Given the description of an element on the screen output the (x, y) to click on. 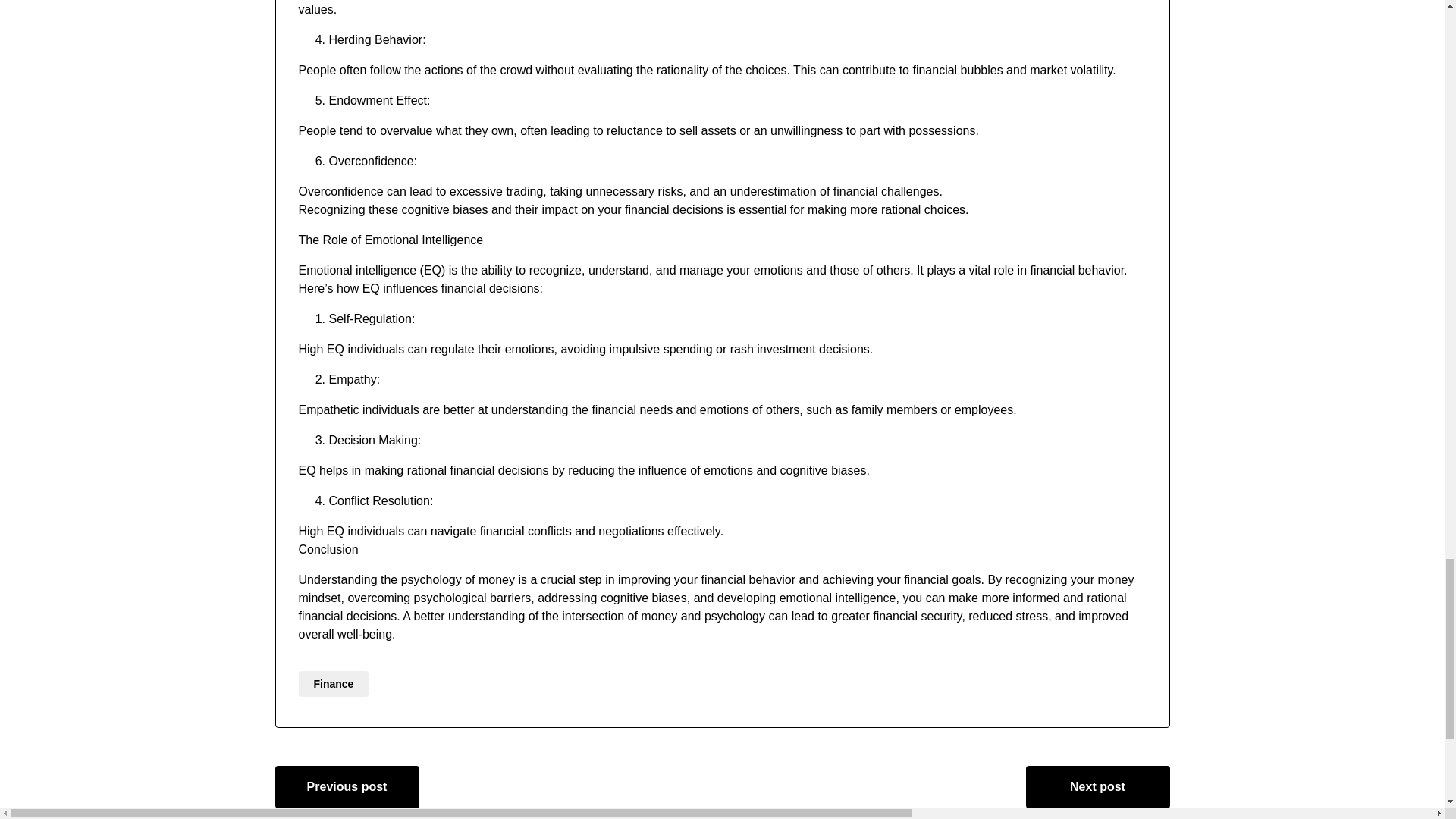
Previous post (347, 786)
Next post (1097, 786)
Finance (333, 683)
